Given the description of an element on the screen output the (x, y) to click on. 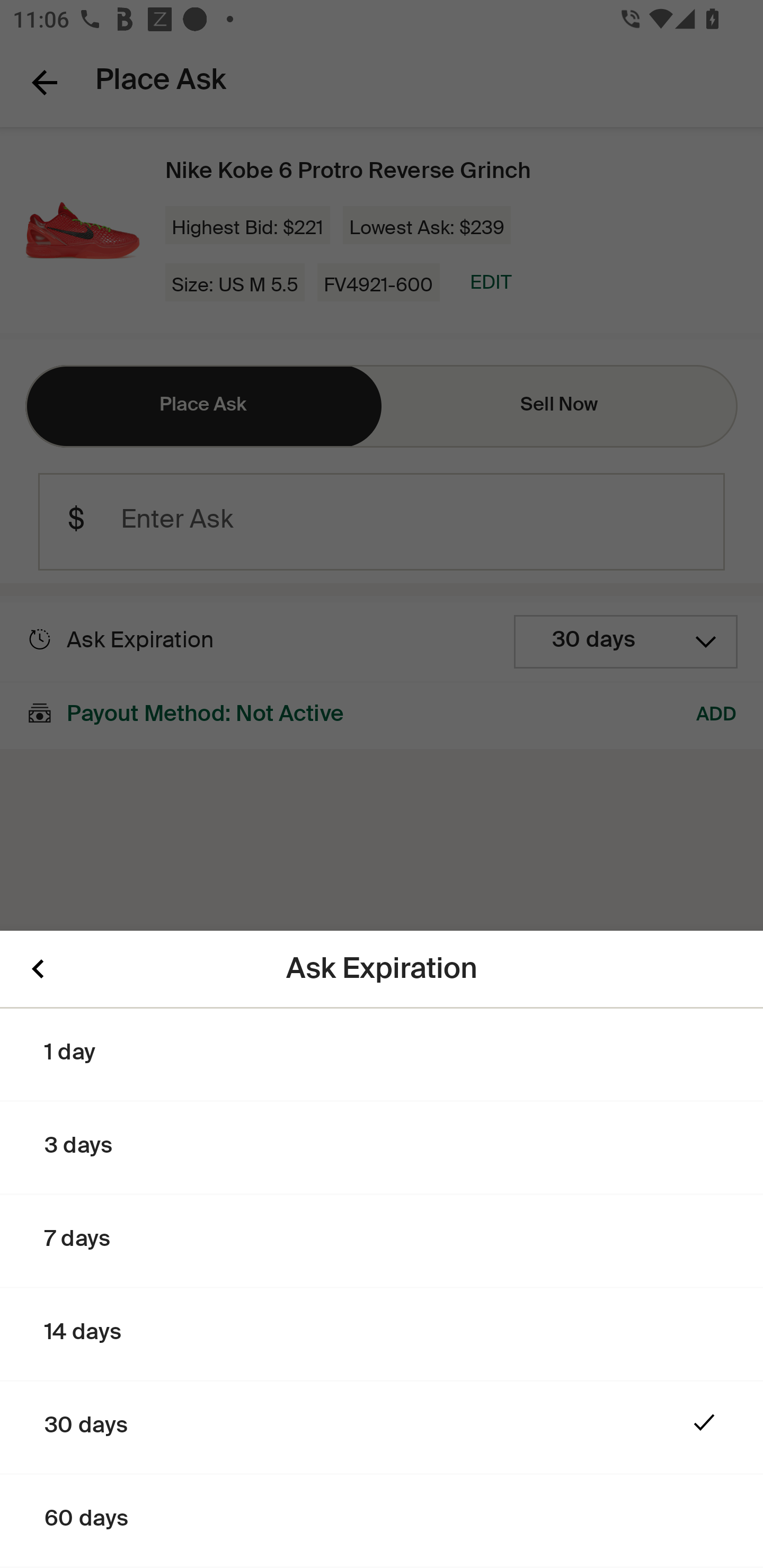
Modal title chevron left icon (38, 968)
1 day (381, 1055)
3 days (381, 1148)
7 days (381, 1241)
14 days (381, 1334)
30 days Check icon (381, 1428)
60 days (381, 1521)
